Given the description of an element on the screen output the (x, y) to click on. 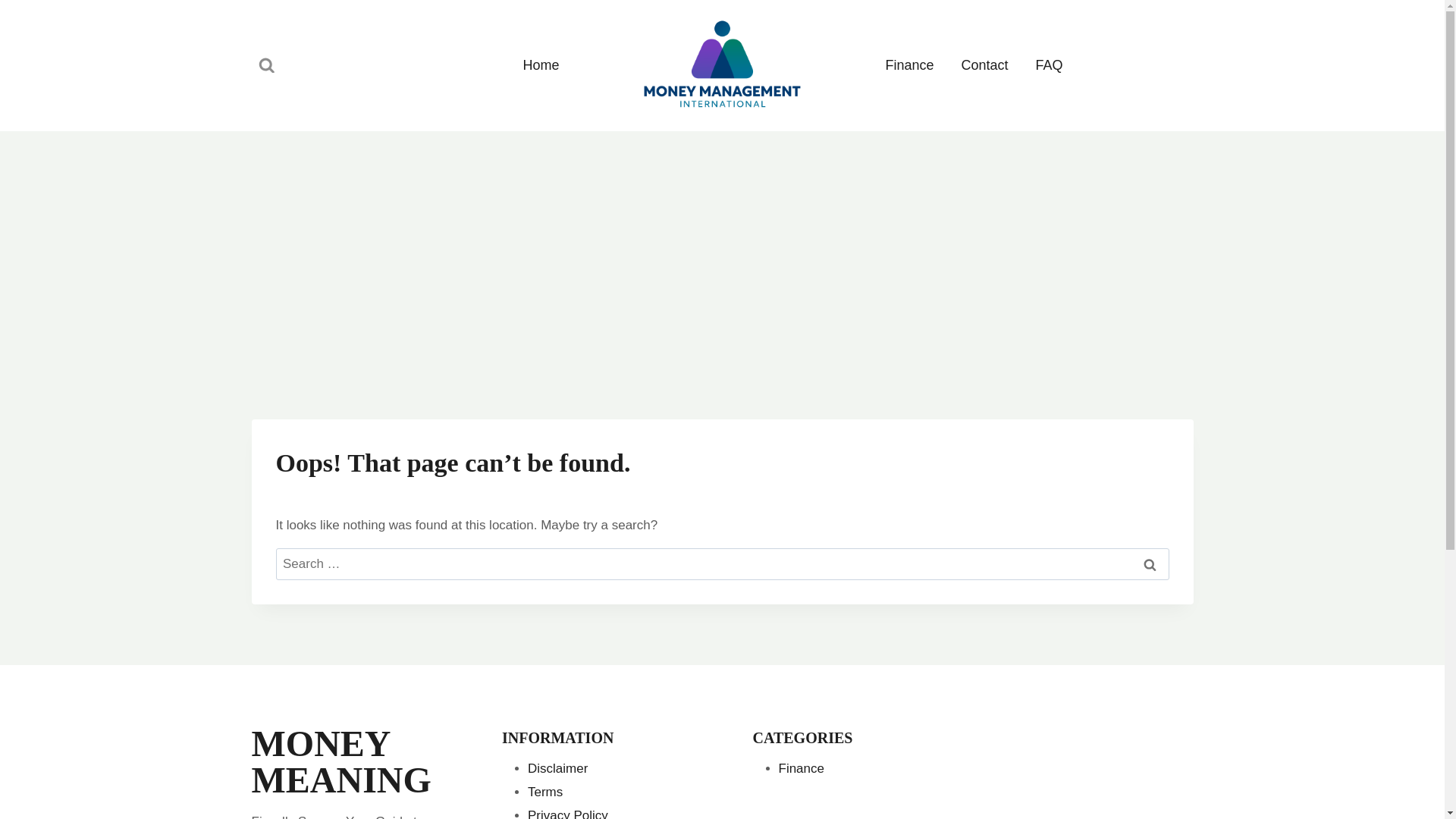
Contact (984, 64)
Finance (800, 768)
Finance (909, 64)
Terms (544, 791)
Privacy Policy (567, 813)
Search (1150, 563)
Search (1150, 563)
FAQ (1049, 64)
Home (540, 64)
